Given the description of an element on the screen output the (x, y) to click on. 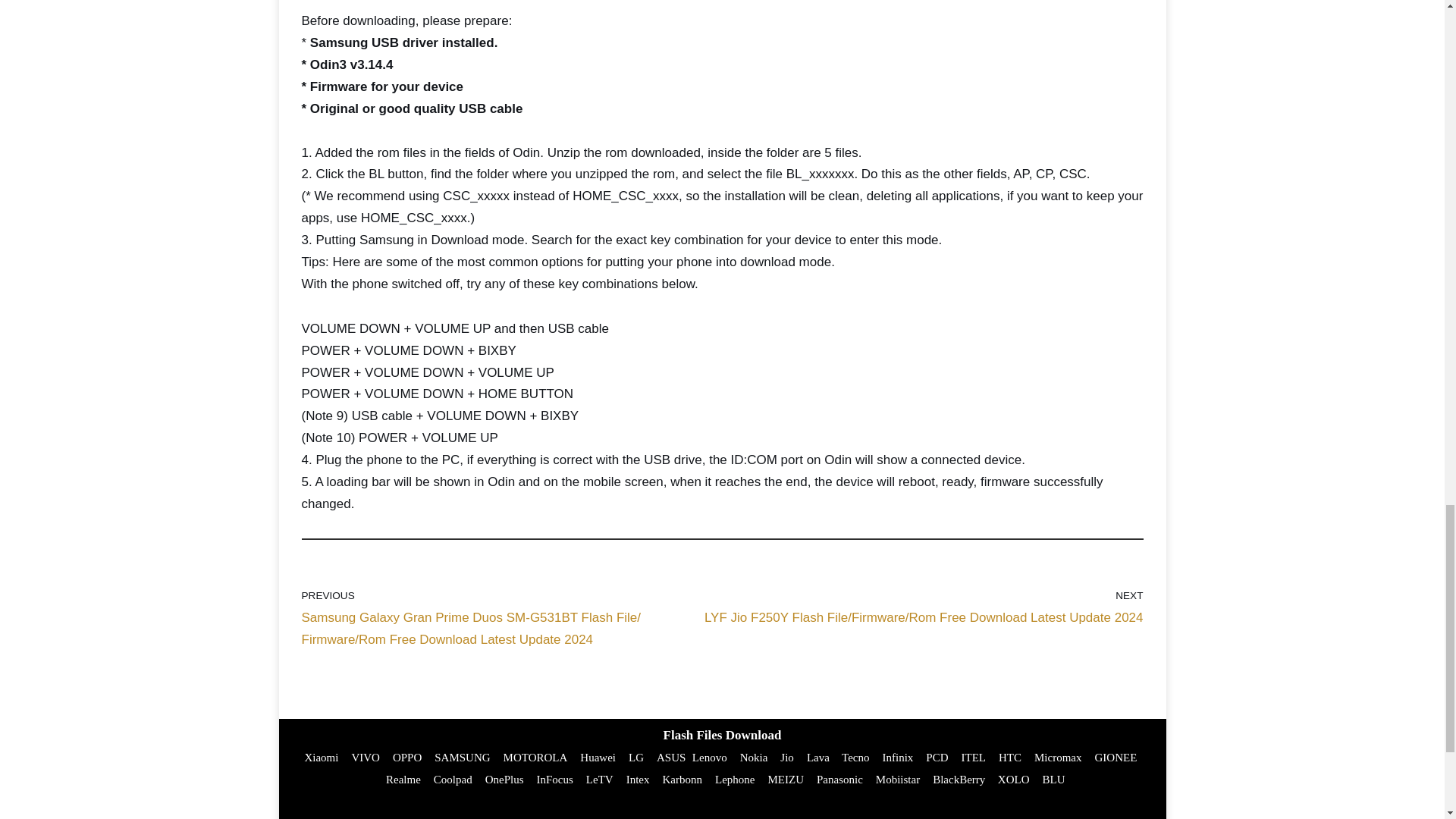
VIVO (365, 757)
Xiaomi (320, 757)
